Given the description of an element on the screen output the (x, y) to click on. 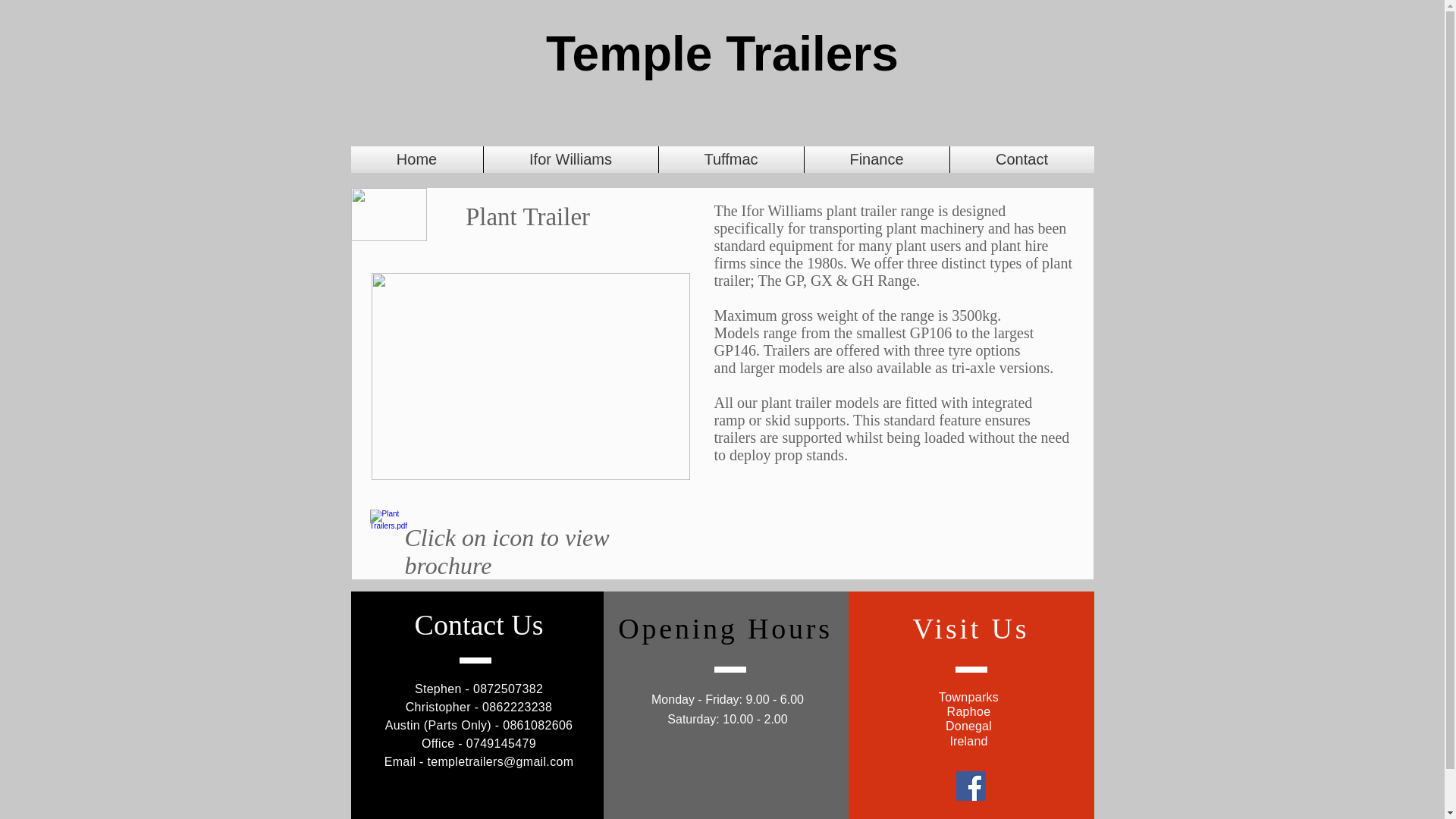
Plant Trailers.pdf (384, 529)
Ifor Williams (570, 159)
Temple Trailers (722, 53)
Tuffmac (730, 159)
Home (415, 159)
Contact (1021, 159)
Finance (876, 159)
